Given the description of an element on the screen output the (x, y) to click on. 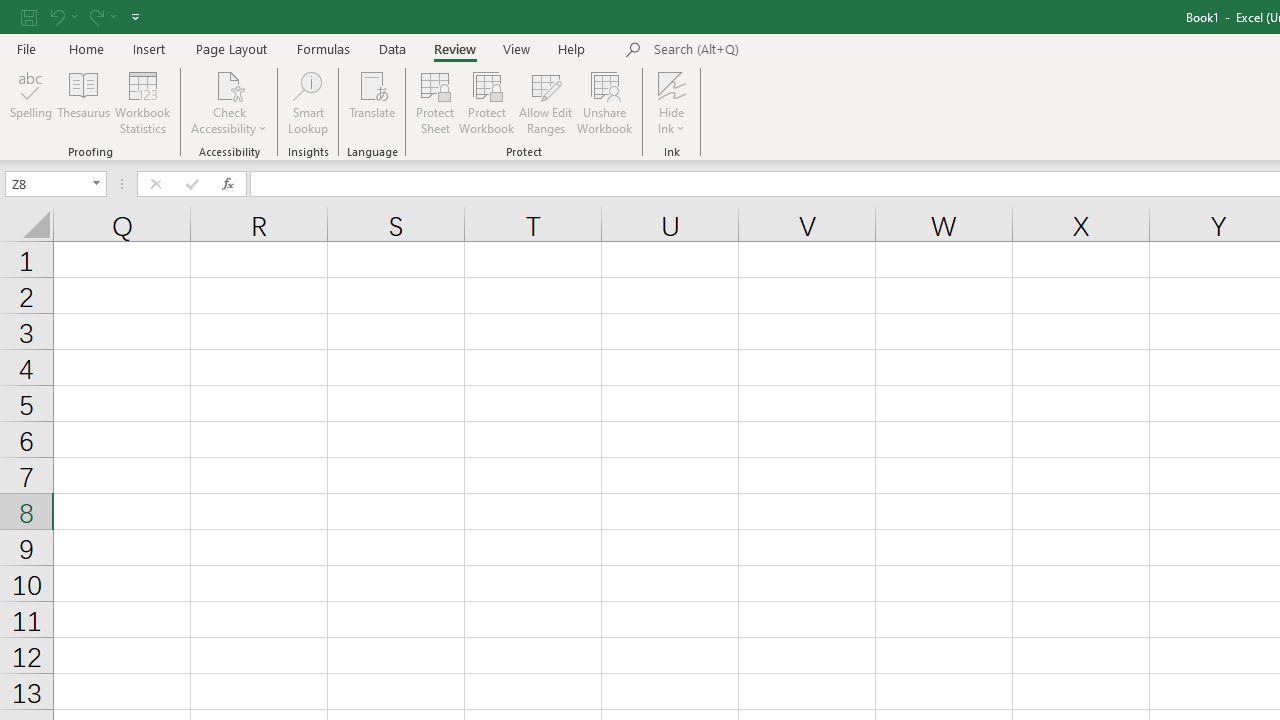
Protect Sheet... (434, 102)
Thesaurus... (83, 102)
Workbook Statistics (142, 102)
Smart Lookup (308, 102)
